Given the description of an element on the screen output the (x, y) to click on. 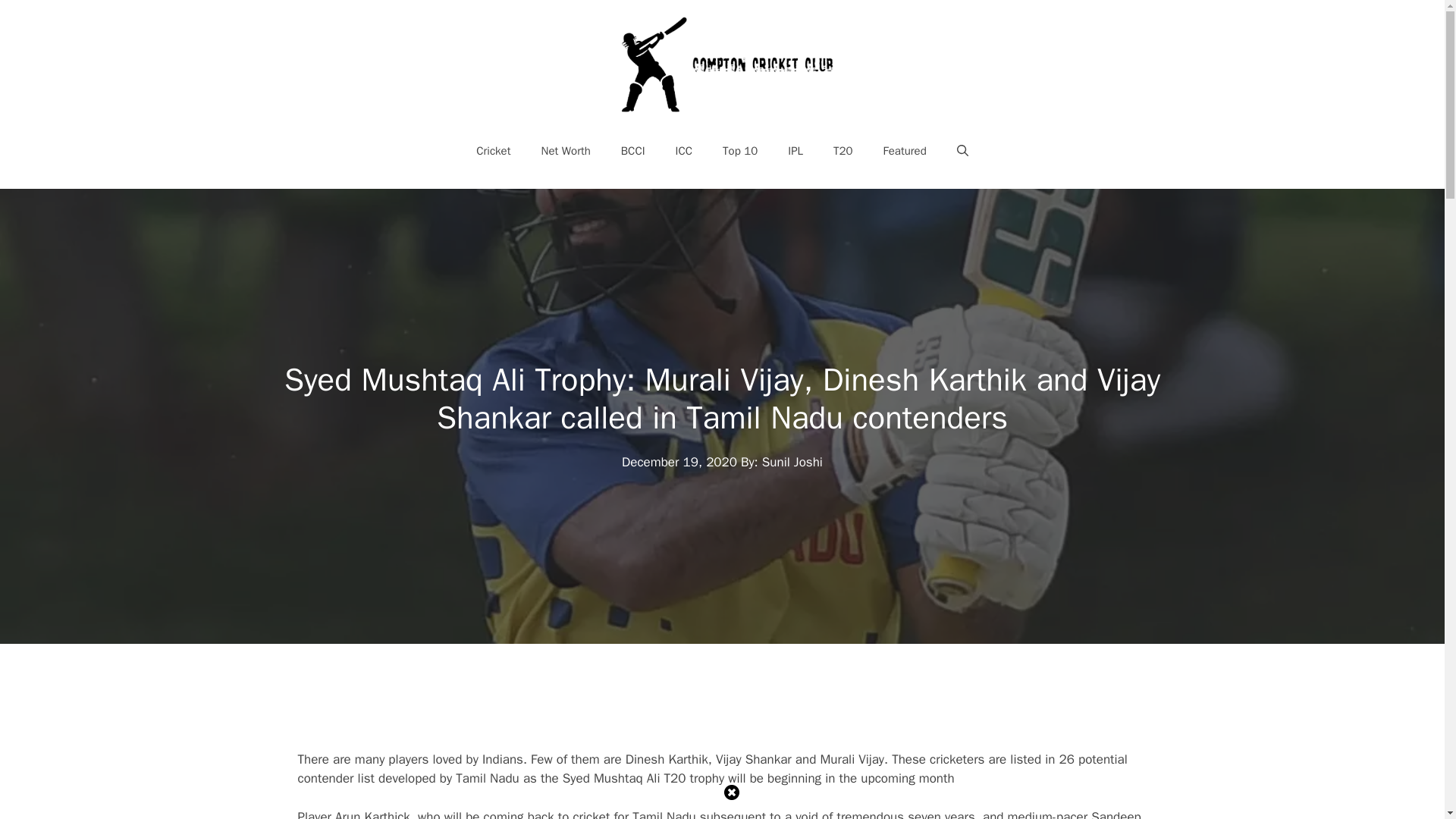
Cricket (493, 150)
IPL (795, 150)
Featured (904, 150)
ICC (684, 150)
Sandeep Warrier (718, 814)
Dinesh Karthik (666, 759)
Net Worth (565, 150)
Top 10 (740, 150)
Murali Vijay (851, 759)
T20 (842, 150)
BCCI (633, 150)
